Given the description of an element on the screen output the (x, y) to click on. 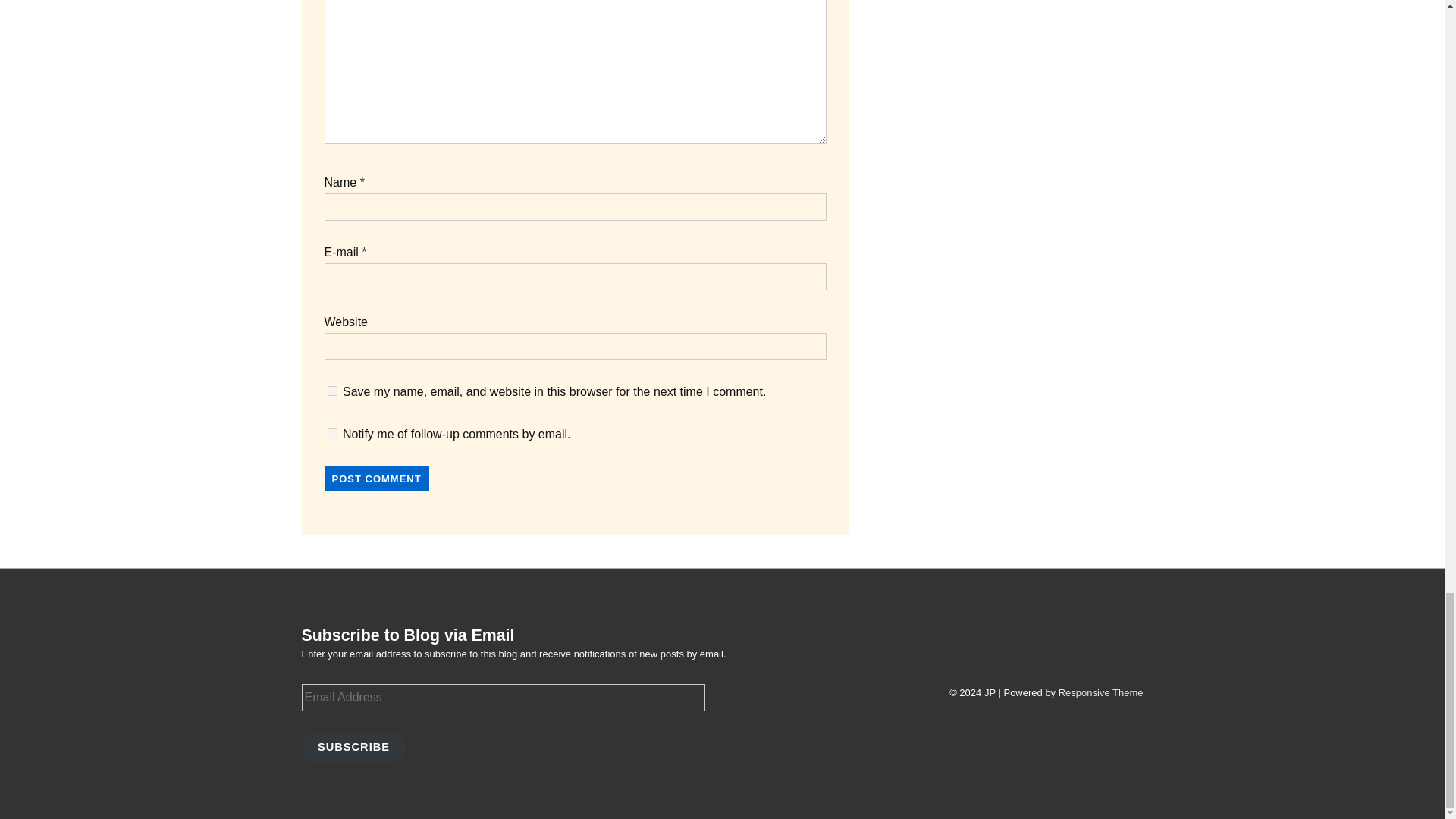
Post Comment (376, 478)
subscribe (332, 433)
Post Comment (376, 478)
yes (332, 390)
SUBSCRIBE (353, 746)
Responsive Theme (1100, 692)
